Given the description of an element on the screen output the (x, y) to click on. 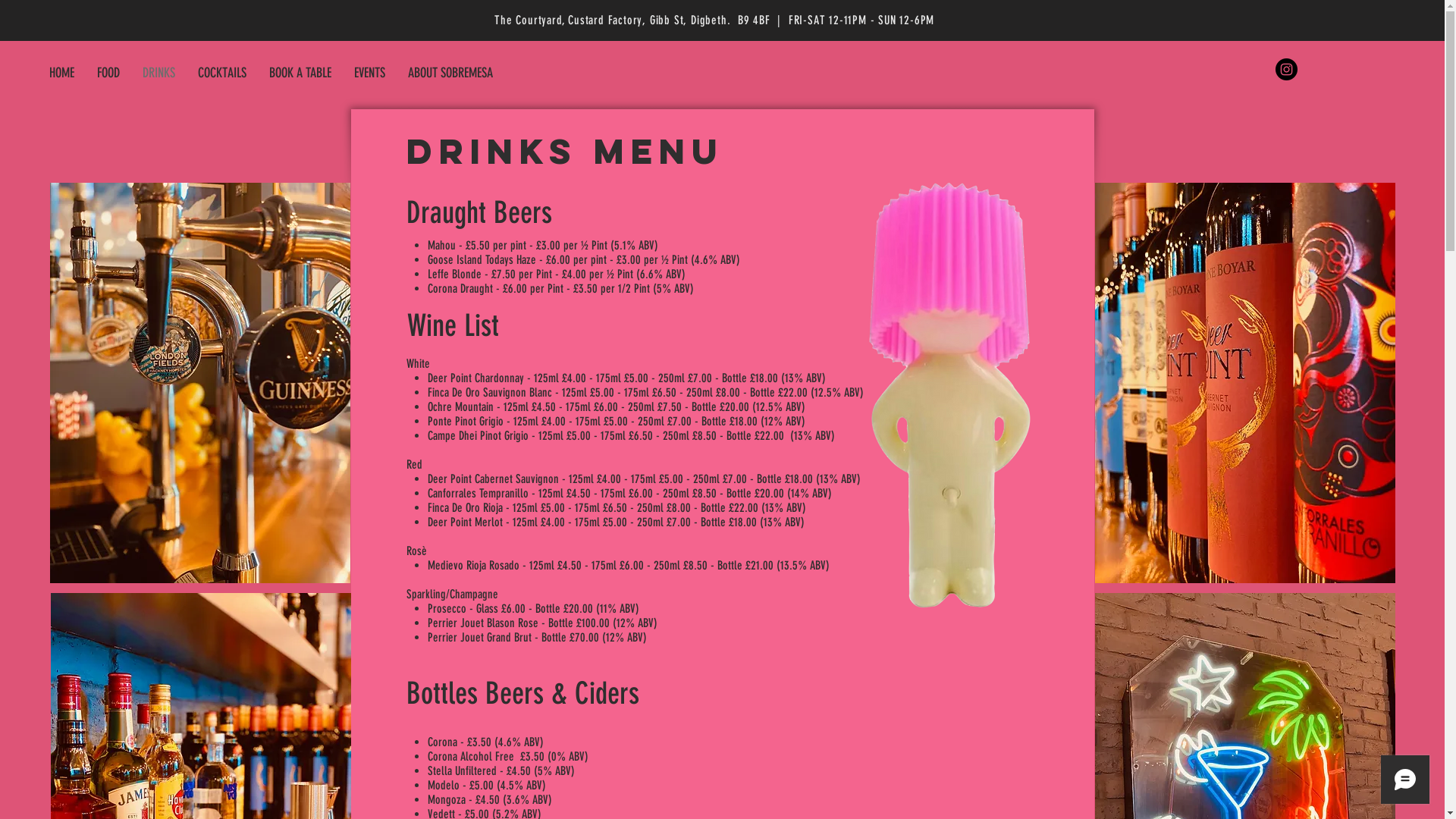
FOOD Element type: text (108, 72)
ABOUT SOBREMESA Element type: text (450, 72)
HOME Element type: text (61, 72)
EVENTS Element type: text (369, 72)
COCKTAILS Element type: text (221, 72)
BOOK A TABLE Element type: text (299, 72)
DRINKS Element type: text (158, 72)
